Given the description of an element on the screen output the (x, y) to click on. 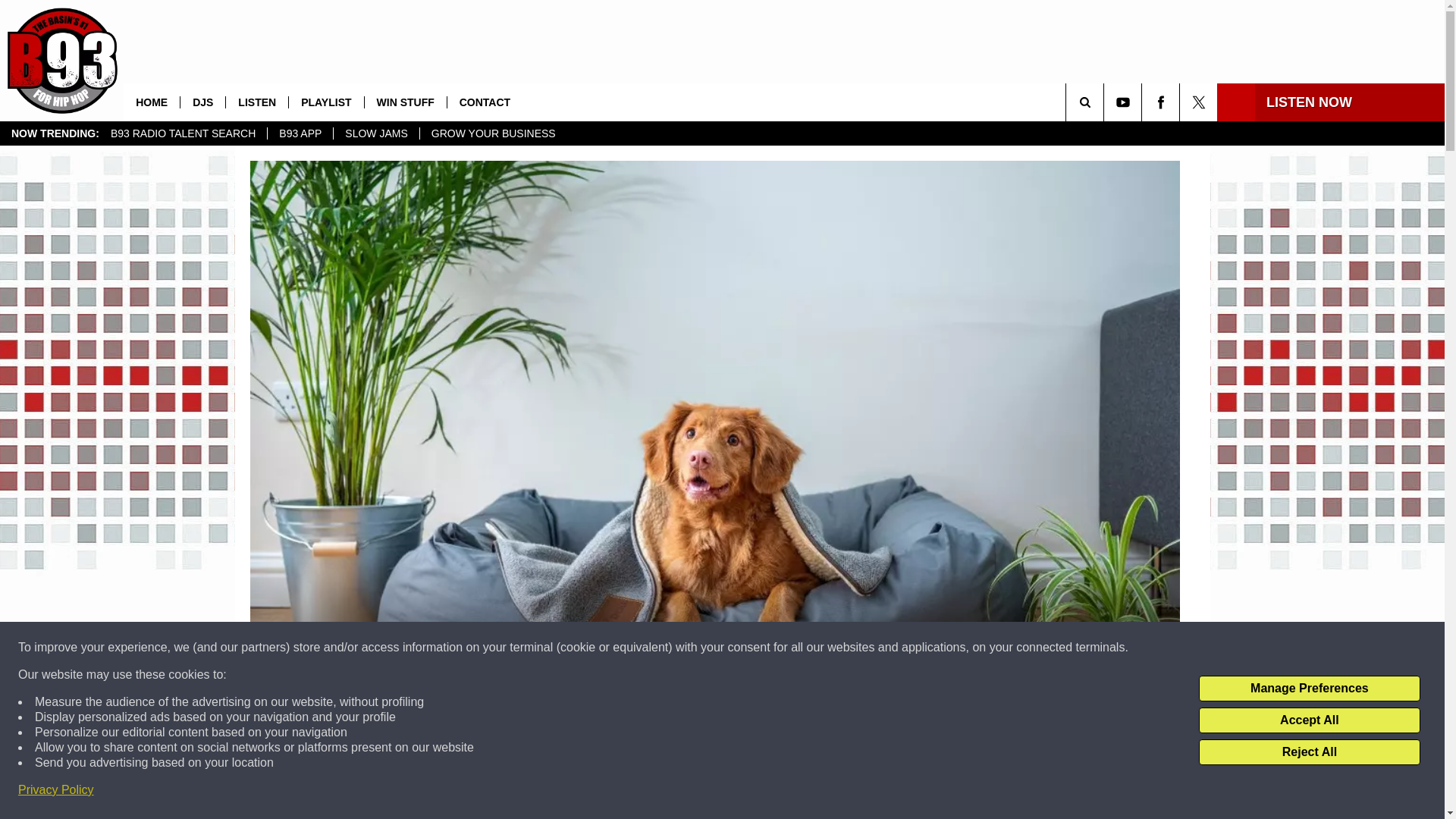
Manage Preferences (1309, 688)
LISTEN (256, 102)
SEARCH (1106, 102)
B93 APP (299, 133)
WIN STUFF (405, 102)
B93 RADIO TALENT SEARCH (182, 133)
SEARCH (1106, 102)
GROW YOUR BUSINESS (493, 133)
CONTACT (484, 102)
Share on Twitter (912, 791)
Reject All (1309, 751)
Accept All (1309, 720)
SLOW JAMS (376, 133)
HOME (151, 102)
PLAYLIST (325, 102)
